Given the description of an element on the screen output the (x, y) to click on. 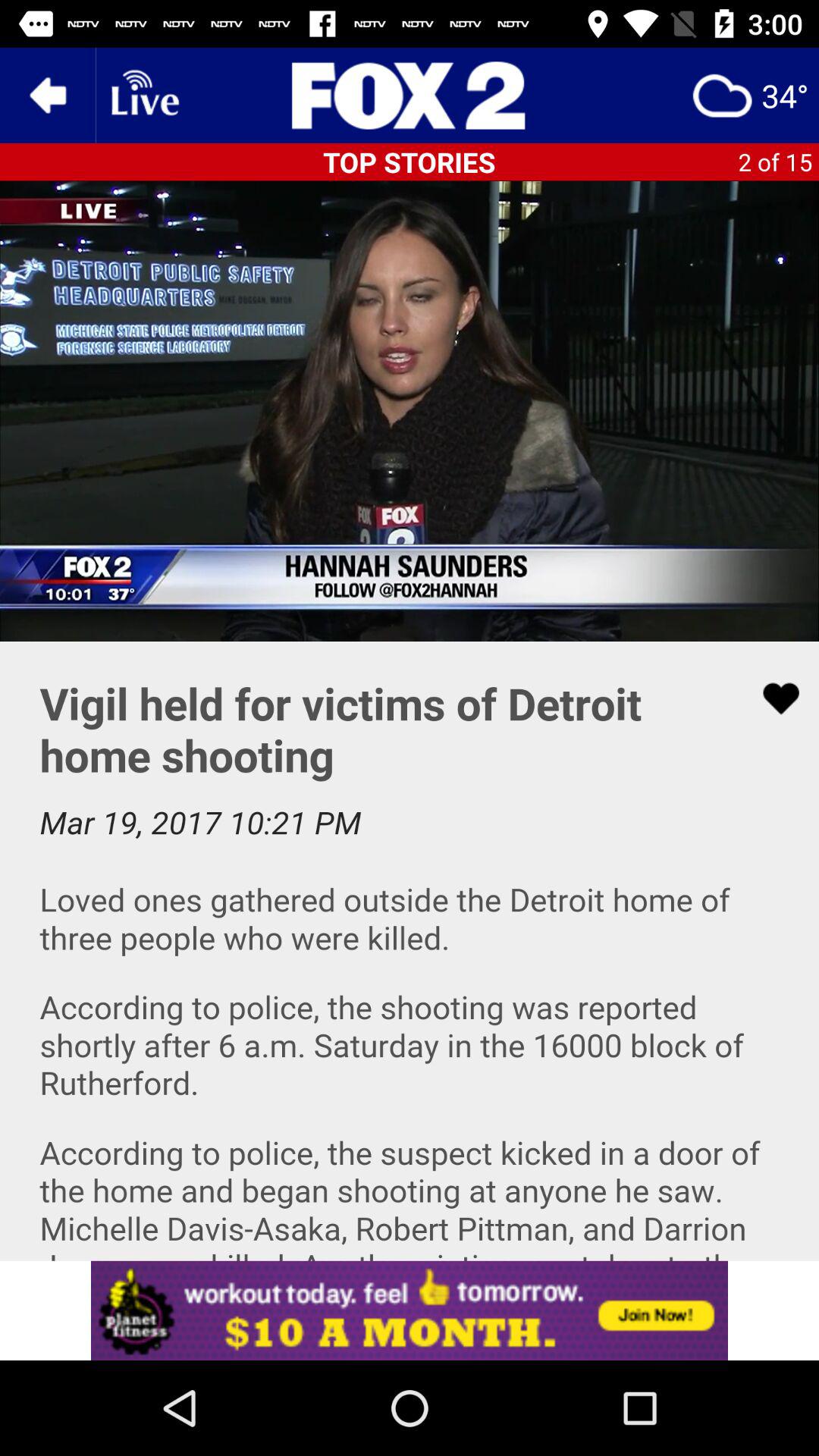
open advertisement (409, 1310)
